Given the description of an element on the screen output the (x, y) to click on. 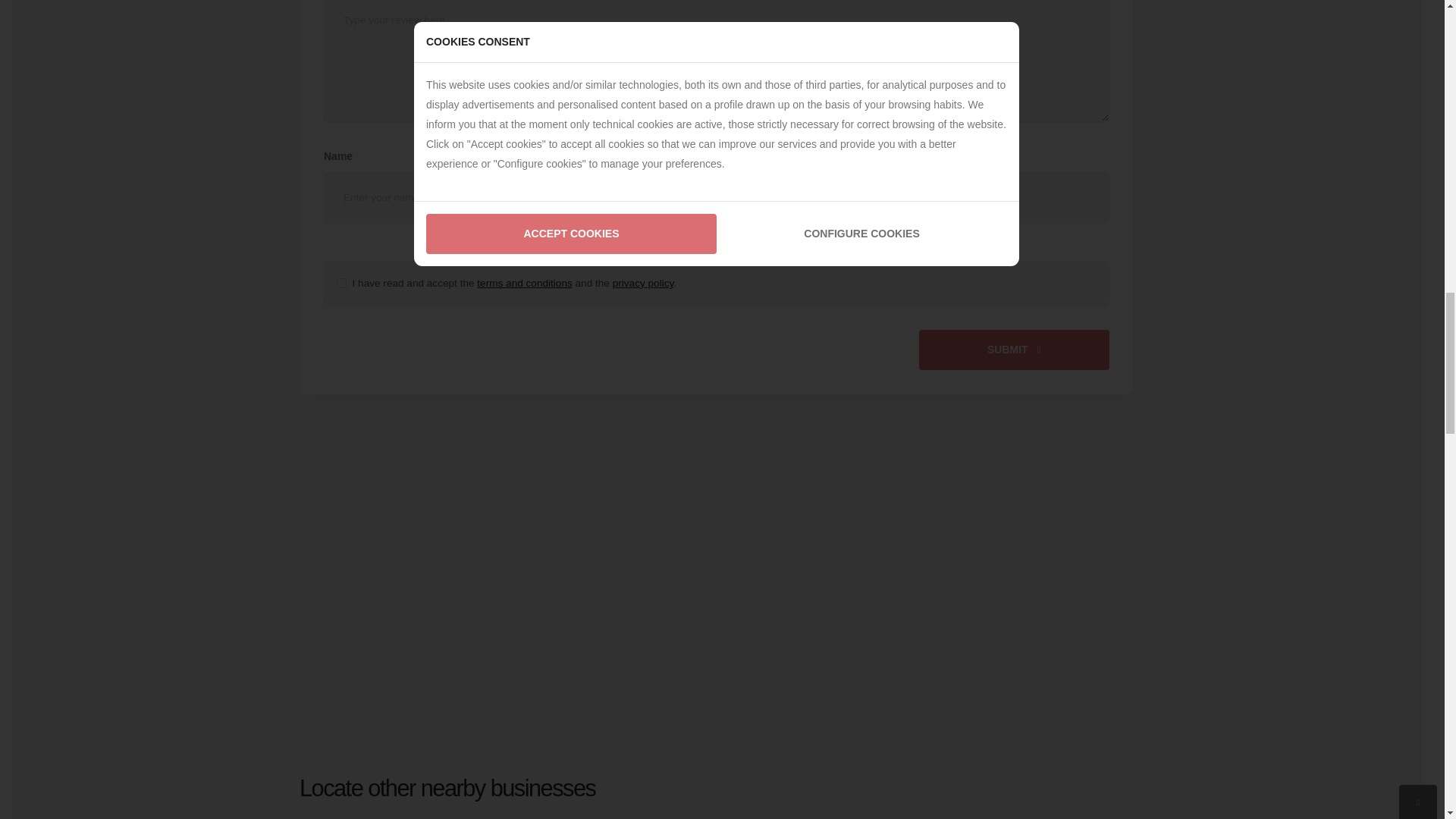
on (341, 283)
